Given the description of an element on the screen output the (x, y) to click on. 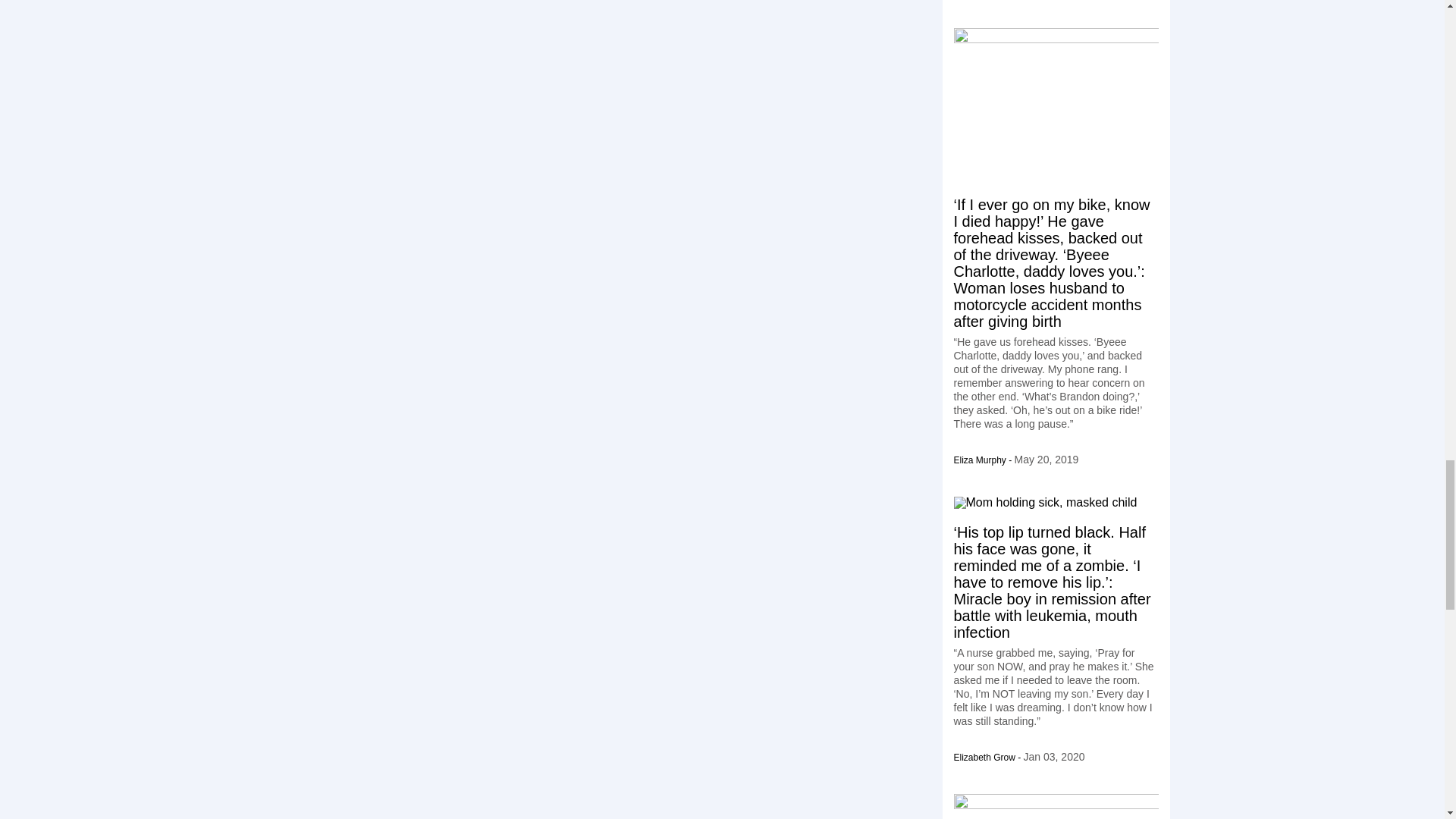
May 20, 2019 (1046, 459)
January 3, 2020 (1053, 756)
